Given the description of an element on the screen output the (x, y) to click on. 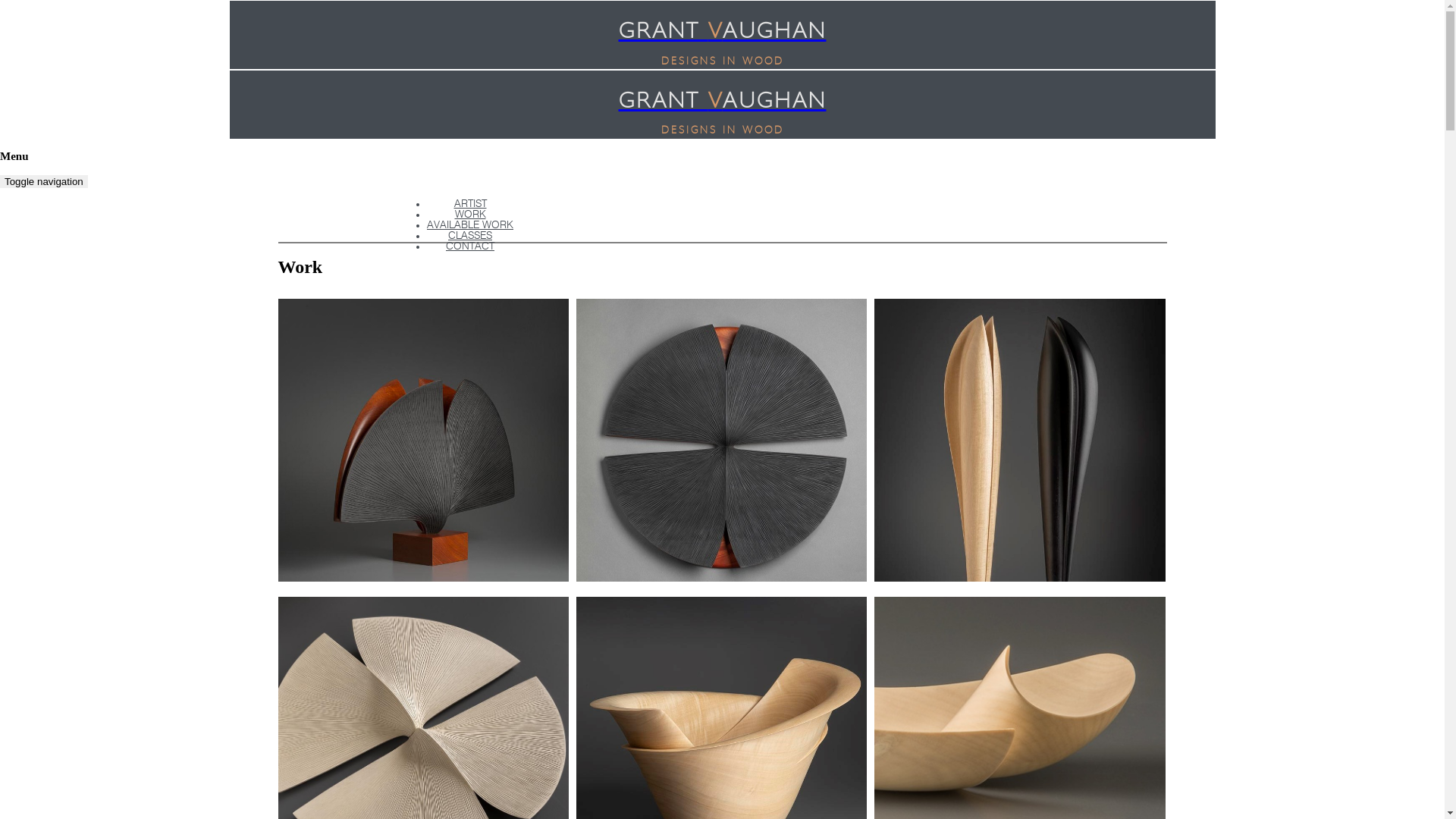
AVAILABLE WORK Element type: text (469, 224)
ARTIST Element type: text (469, 203)
WORK Element type: text (470, 214)
GRANT VAUGHAN Element type: text (722, 98)
Toggle navigation Element type: text (43, 181)
CONTACT Element type: text (469, 246)
CLASSES Element type: text (470, 235)
GRANT VAUGHAN Element type: text (722, 29)
